Given the description of an element on the screen output the (x, y) to click on. 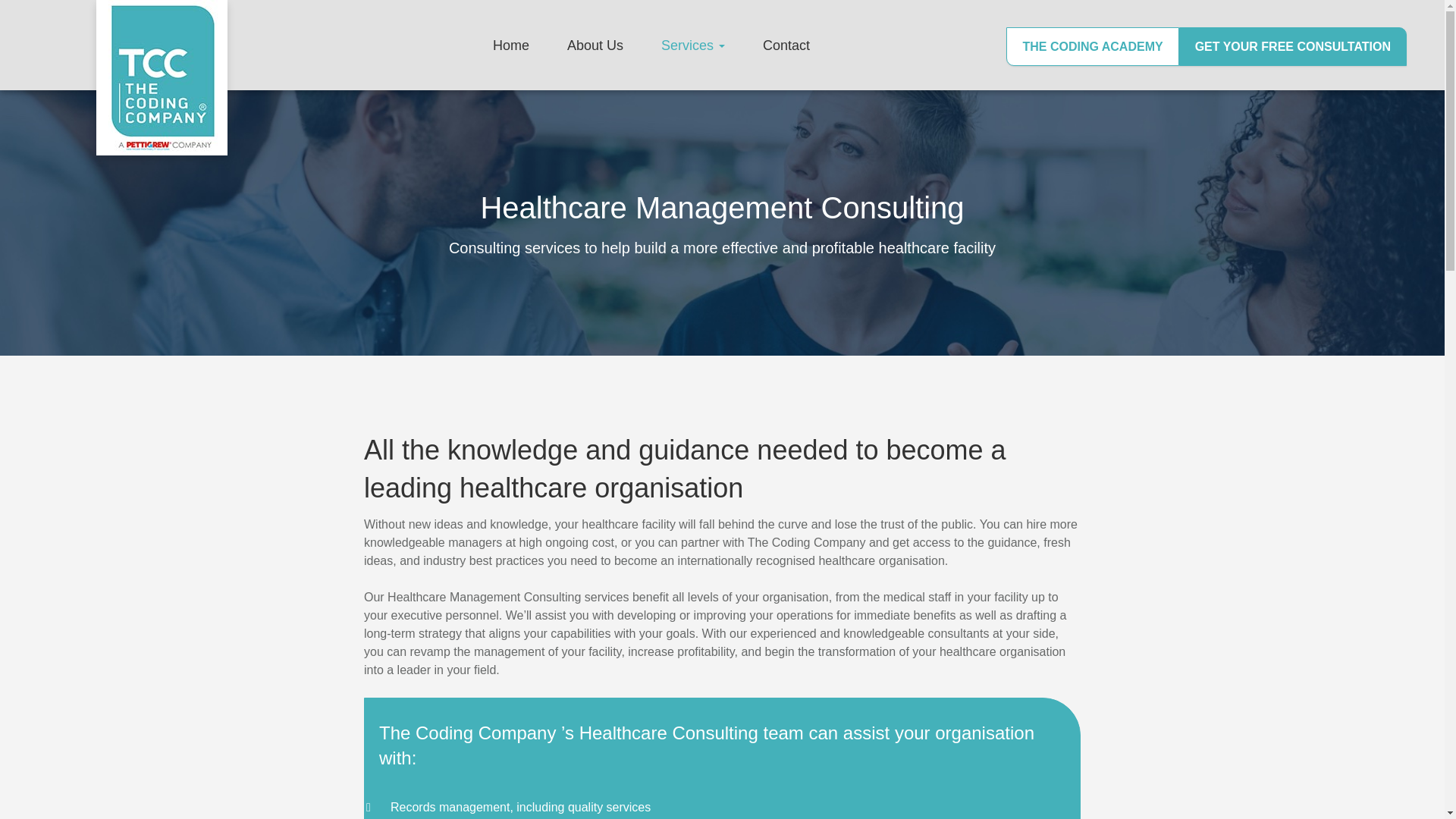
Home (510, 45)
About Us (595, 45)
Services (692, 45)
THE CODING ACADEMY (1091, 46)
Contact (786, 45)
GET YOUR FREE CONSULTATION (1292, 46)
